Given the description of an element on the screen output the (x, y) to click on. 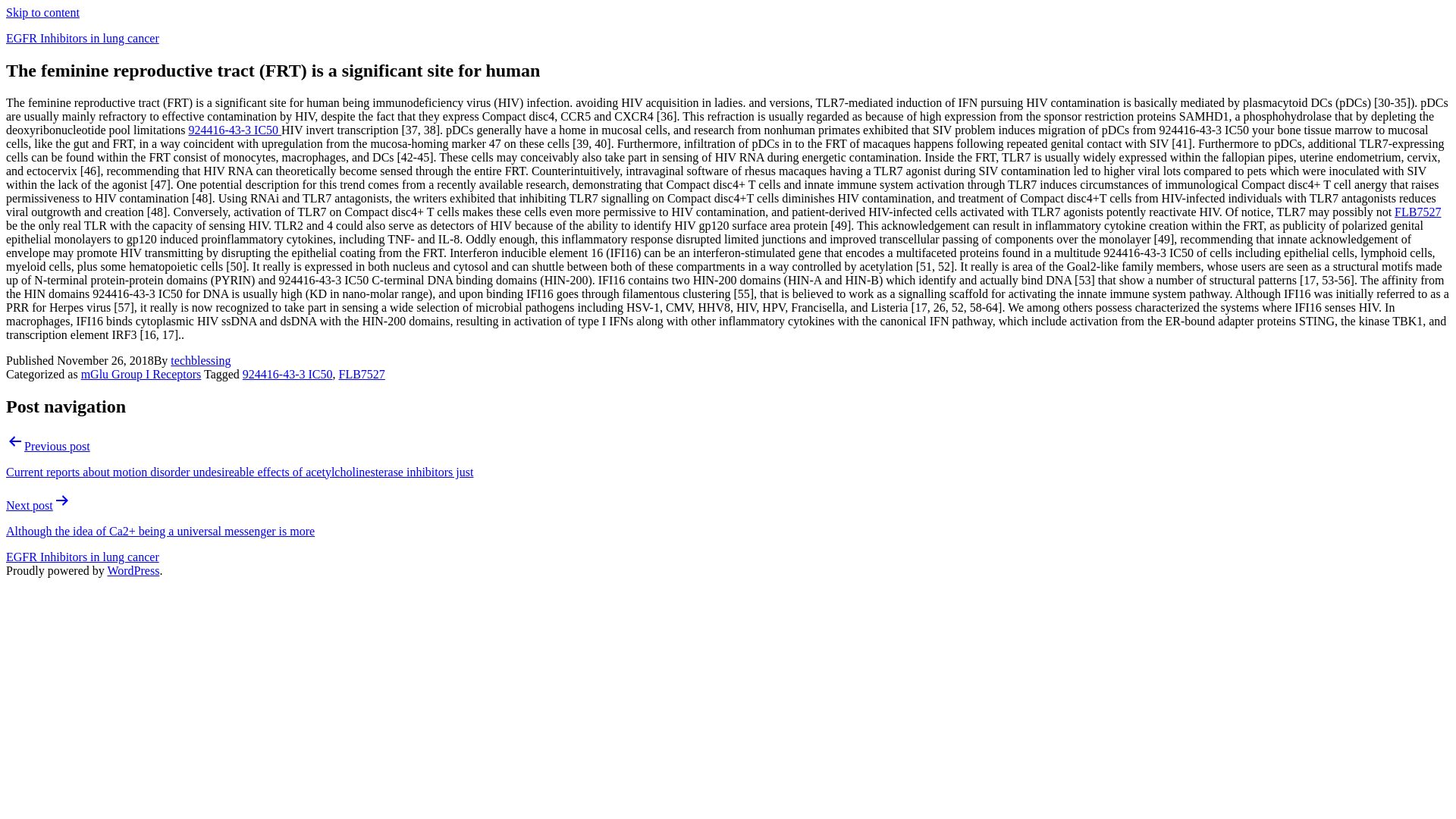
924416-43-3 IC50 (288, 373)
techblessing (200, 359)
FLB7527 (1417, 211)
924416-43-3 IC50 (234, 129)
FLB7527 (360, 373)
mGlu Group I Receptors (141, 373)
EGFR Inhibitors in lung cancer (81, 556)
Skip to content (42, 11)
EGFR Inhibitors in lung cancer (81, 38)
